Given the description of an element on the screen output the (x, y) to click on. 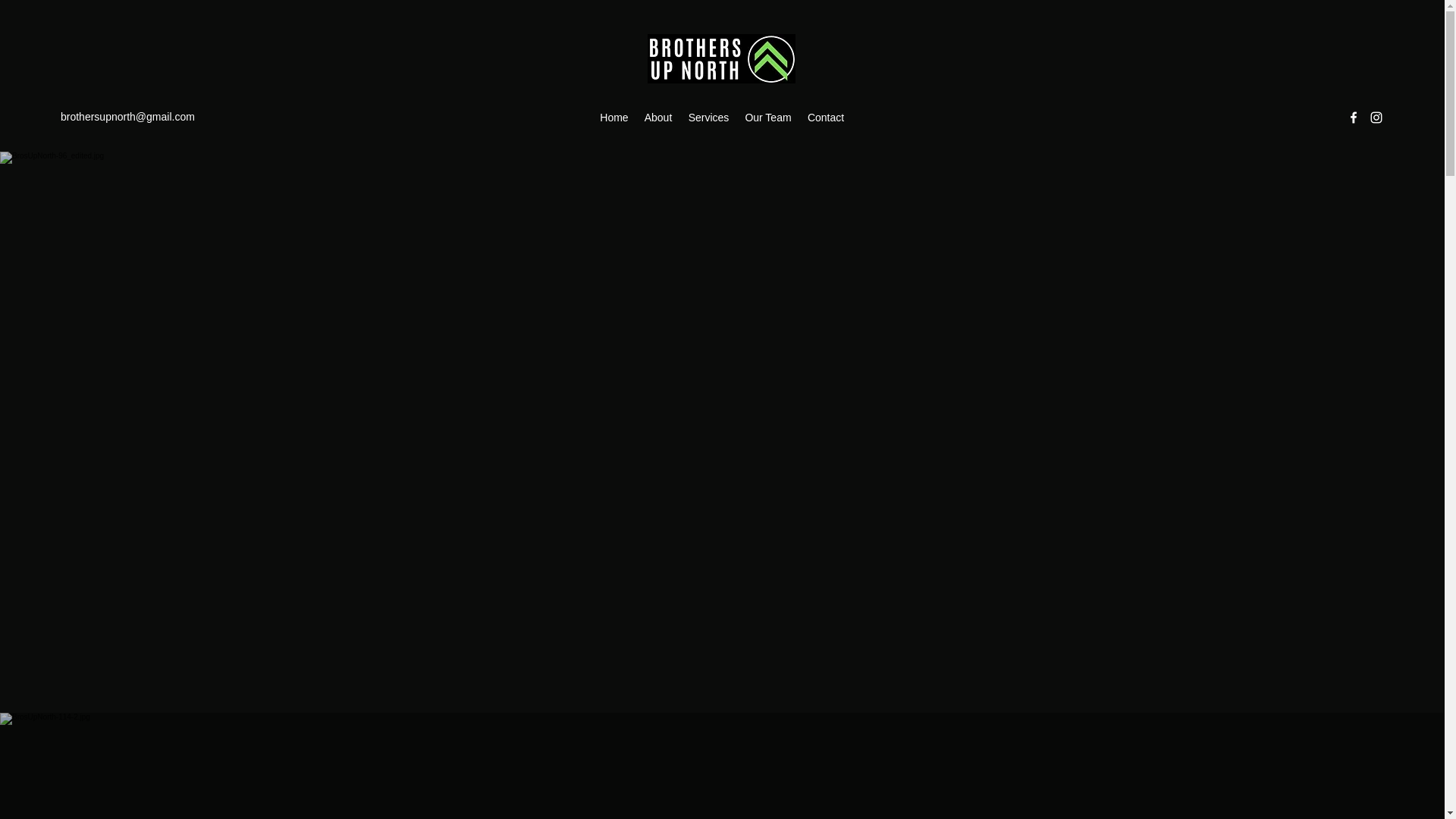
Services (707, 117)
Contact (825, 117)
Home (614, 117)
About (657, 117)
Our Team (767, 117)
